Given the description of an element on the screen output the (x, y) to click on. 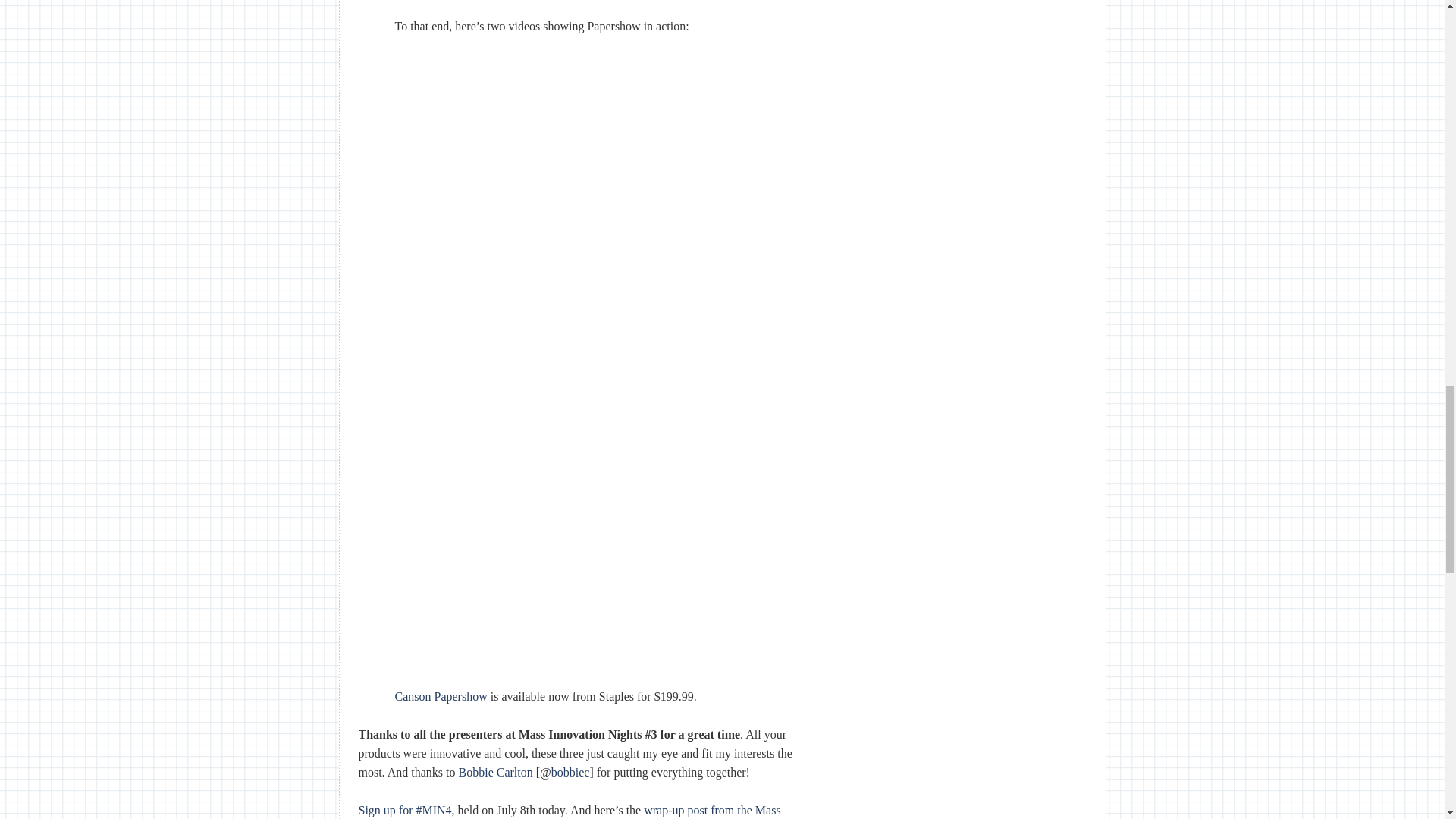
bobbiec (570, 771)
wrap-up post from the Mass Innovations blog (569, 811)
Canson Papershow (440, 696)
Bobbie Carlton (495, 771)
